Given the description of an element on the screen output the (x, y) to click on. 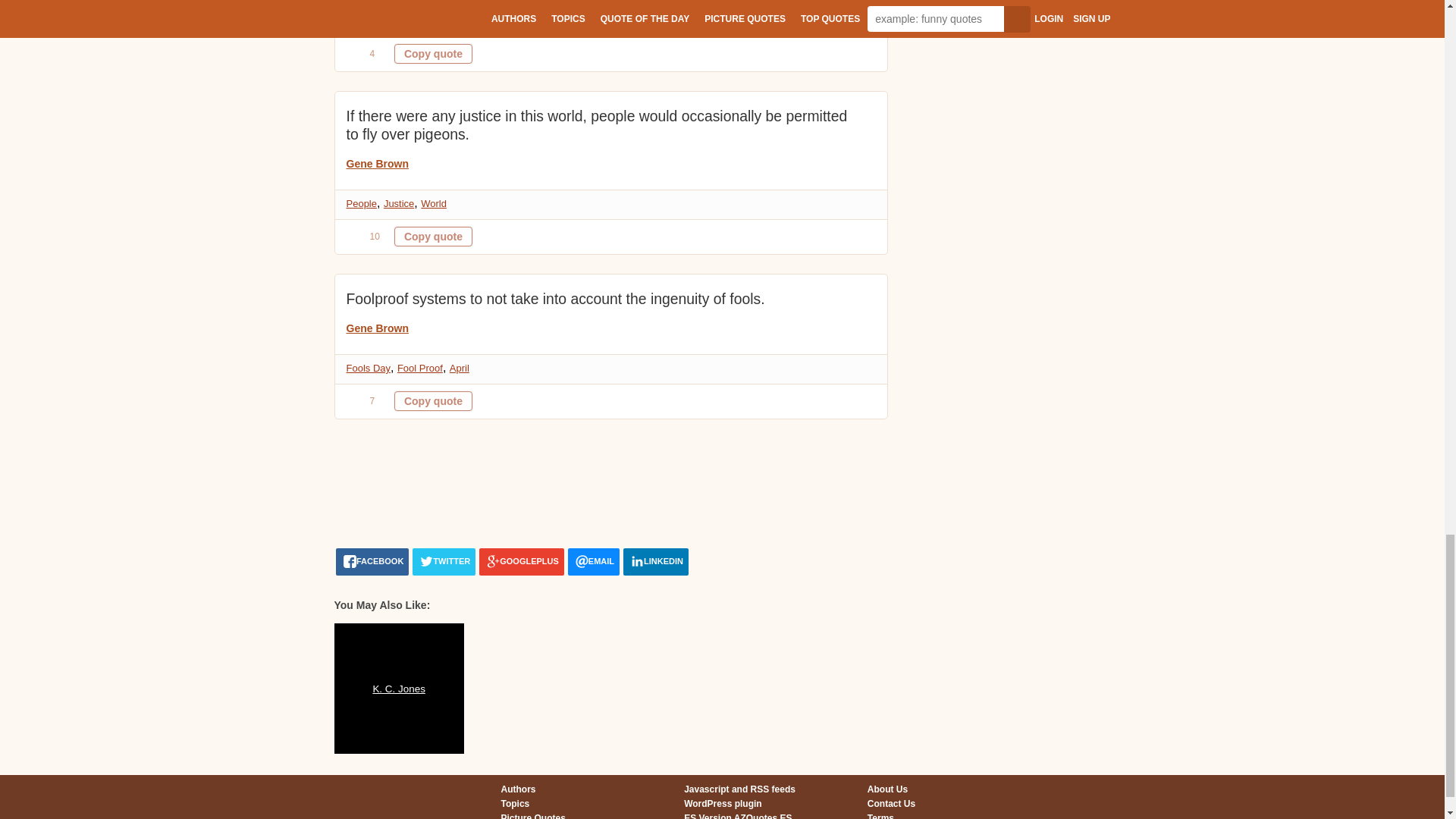
Quote is copied (432, 53)
Quote is copied (432, 401)
Quote is copied (432, 236)
